Given the description of an element on the screen output the (x, y) to click on. 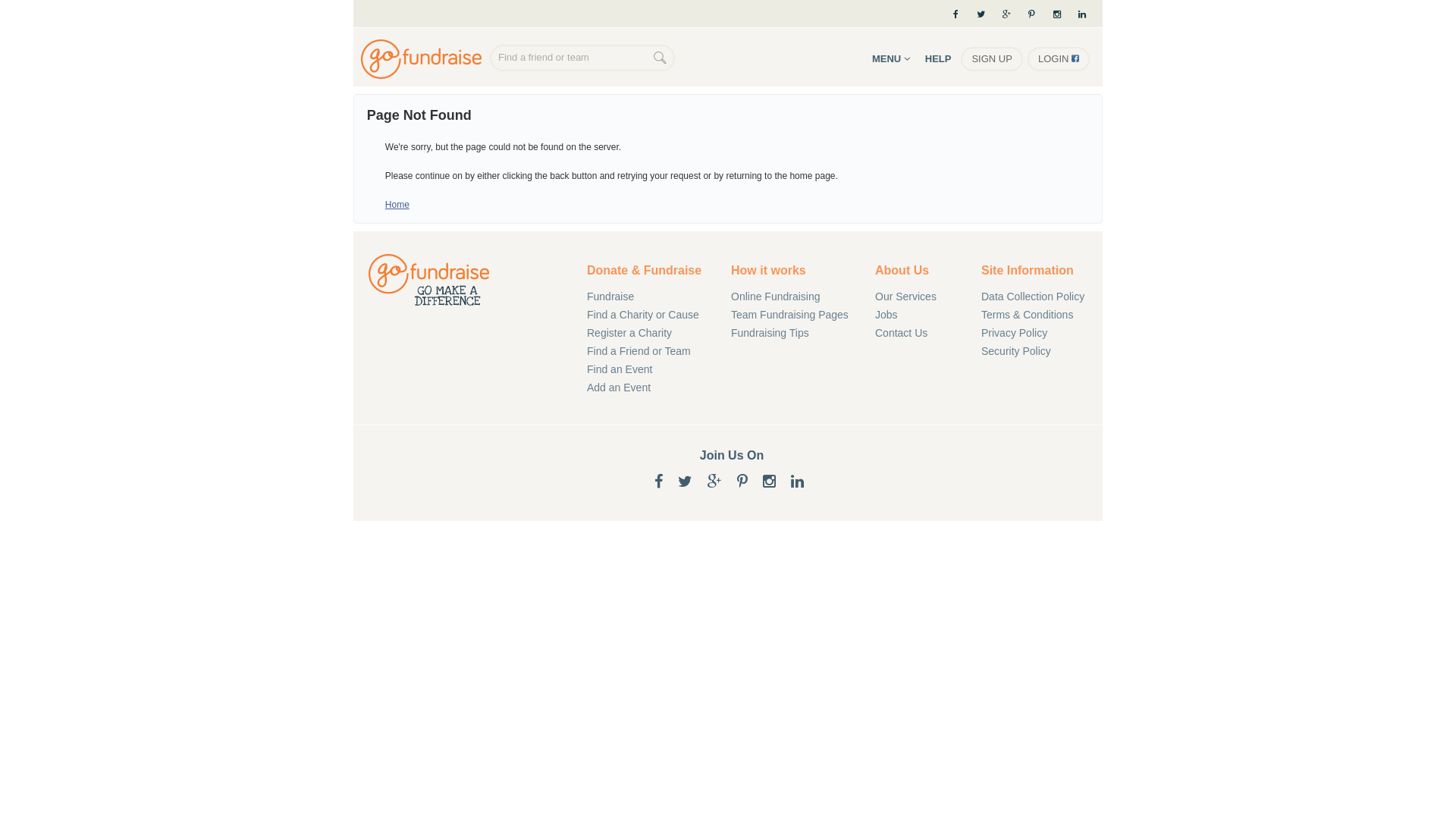
Pinterest Element type: hover (742, 481)
Google+ Element type: hover (714, 481)
Home Element type: text (397, 204)
Fundraise Element type: text (647, 296)
HELP Element type: text (938, 58)
LinkedIn Element type: hover (796, 481)
Terms & Conditions Element type: text (1041, 314)
Instagram Element type: hover (768, 481)
Online Fundraising Element type: text (424, 58)
Fundraising Tips Element type: text (791, 332)
Security Policy Element type: text (1041, 351)
Instagram Element type: hover (1056, 14)
Twitter Element type: hover (684, 481)
Contact Us Element type: text (916, 332)
Facebook Element type: hover (955, 14)
Register a Charity Element type: text (647, 332)
Data Collection Policy Element type: text (1041, 296)
Google+ Element type: hover (1006, 14)
Privacy Policy Element type: text (1041, 332)
Find a Charity or Cause Element type: text (647, 314)
Jobs Element type: text (916, 314)
Pinterest Element type: hover (1031, 14)
Twitter Element type: hover (980, 14)
MENU Element type: text (891, 58)
Find a Friend or Team Element type: text (647, 351)
Team Fundraising Pages Element type: text (791, 314)
Our Services Element type: text (916, 296)
Facebook Element type: hover (658, 481)
Find an Event Element type: text (647, 369)
LinkedIn Element type: hover (1087, 14)
Find a friend or team Element type: hover (571, 57)
Add an Event Element type: text (647, 387)
Online Fundraising Element type: text (791, 296)
